Given the description of an element on the screen output the (x, y) to click on. 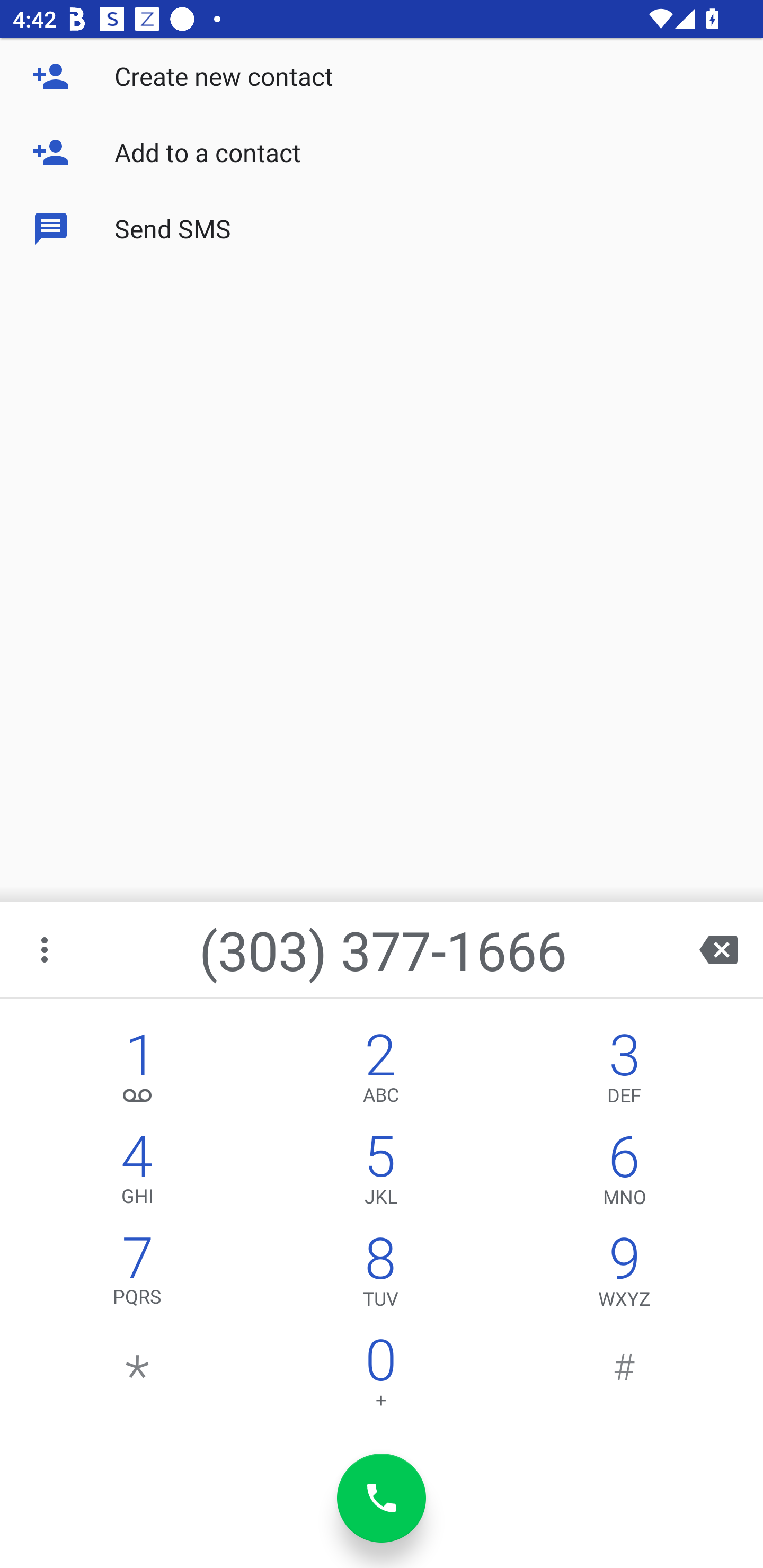
Create new contact (381, 75)
Add to a contact (381, 152)
Send SMS (381, 228)
(303) 377-1666 (382, 949)
backspace (718, 949)
More options (45, 949)
1, 1 (137, 1071)
2,ABC 2 ABC (380, 1071)
3,DEF 3 DEF (624, 1071)
4,GHI 4 GHI (137, 1173)
5,JKL 5 JKL (380, 1173)
6,MNO 6 MNO (624, 1173)
7,PQRS 7 PQRS (137, 1275)
8,TUV 8 TUV (380, 1275)
9,WXYZ 9 WXYZ (624, 1275)
* (137, 1377)
0 0 + (380, 1377)
# (624, 1377)
dial (381, 1497)
